Given the description of an element on the screen output the (x, y) to click on. 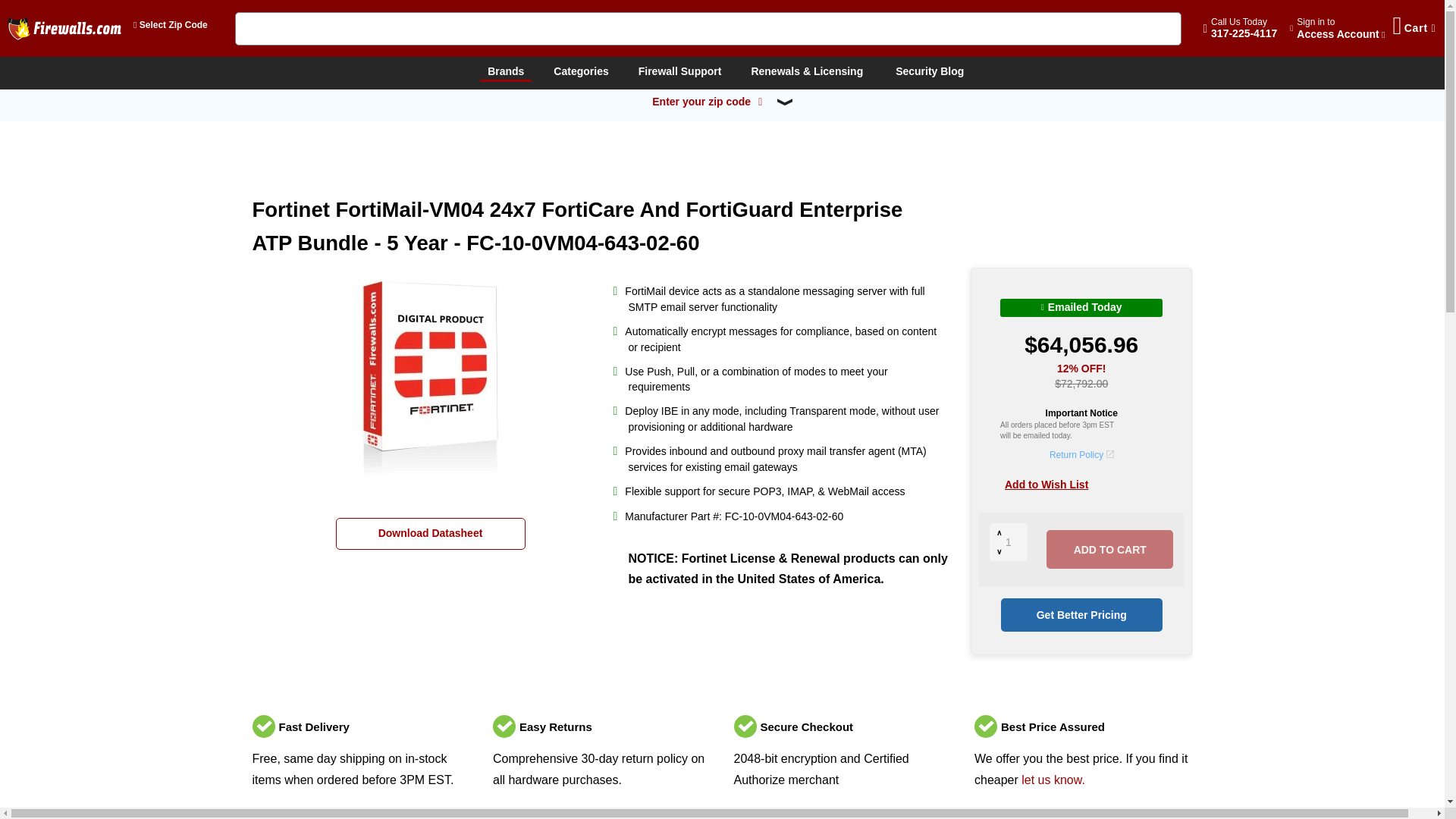
Brands (1243, 28)
Download Datasheet (505, 72)
Categories (429, 533)
Cart (1337, 27)
1 (580, 71)
Add to Cart (1413, 28)
Firewall Support (1008, 542)
Qty (1109, 548)
